Given the description of an element on the screen output the (x, y) to click on. 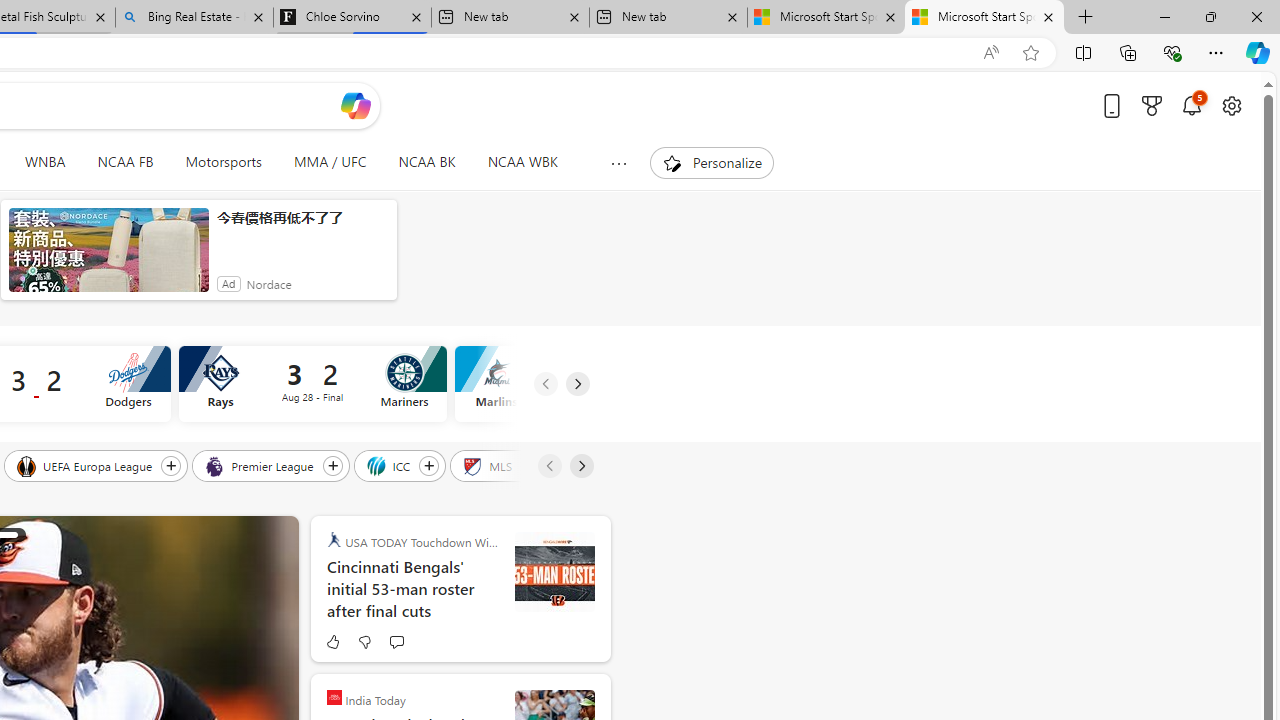
Start the conversation (396, 641)
Nordace (268, 283)
Chloe Sorvino (352, 17)
Read aloud this page (Ctrl+Shift+U) (991, 53)
Dislike (364, 641)
UEFA Europa League (86, 465)
Notifications (1192, 105)
Motorsports (223, 162)
NCAA FB (125, 162)
Show more topics (617, 163)
. (554, 572)
Motorsports (223, 162)
